Given the description of an element on the screen output the (x, y) to click on. 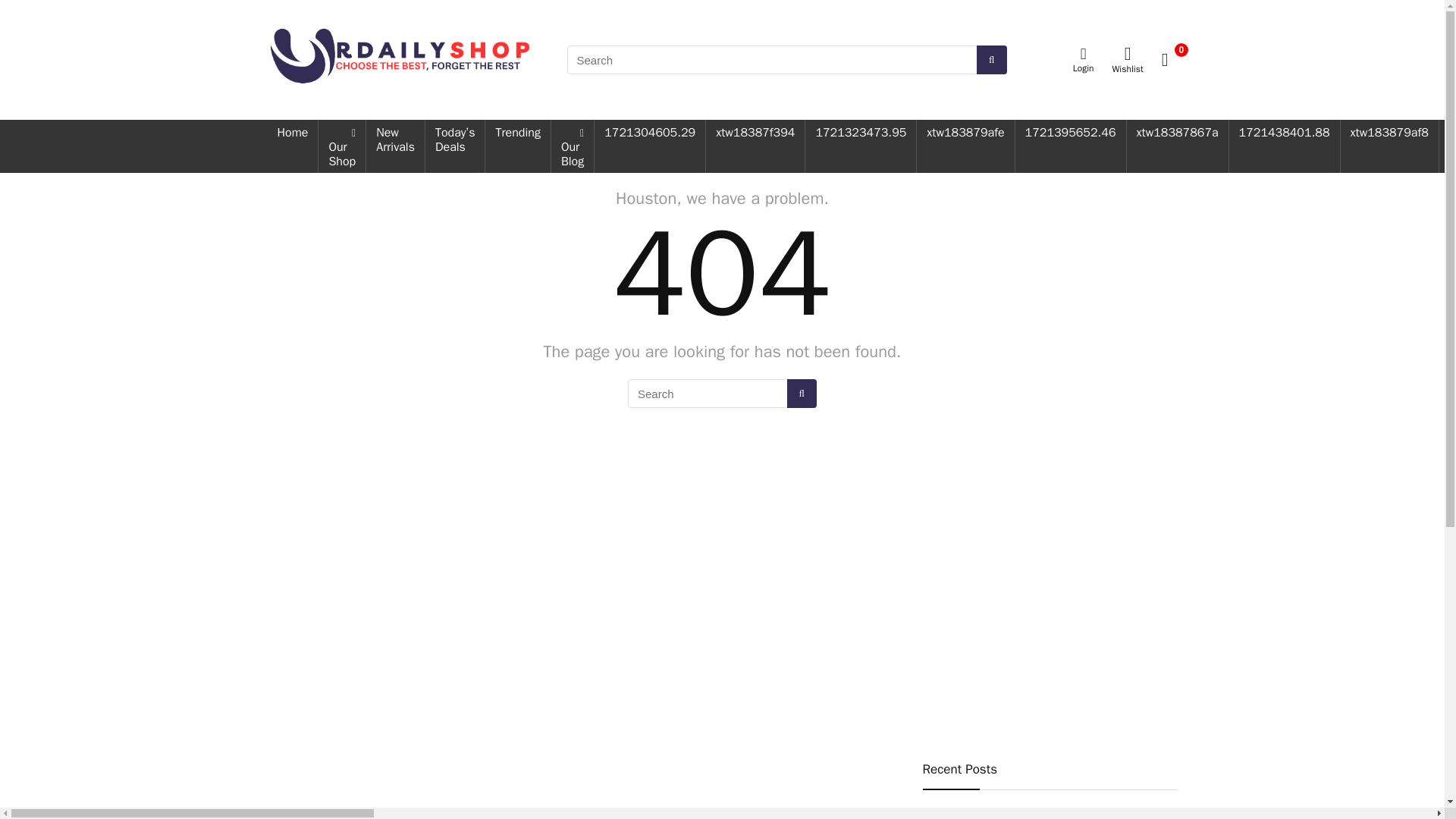
Home (291, 133)
